Given the description of an element on the screen output the (x, y) to click on. 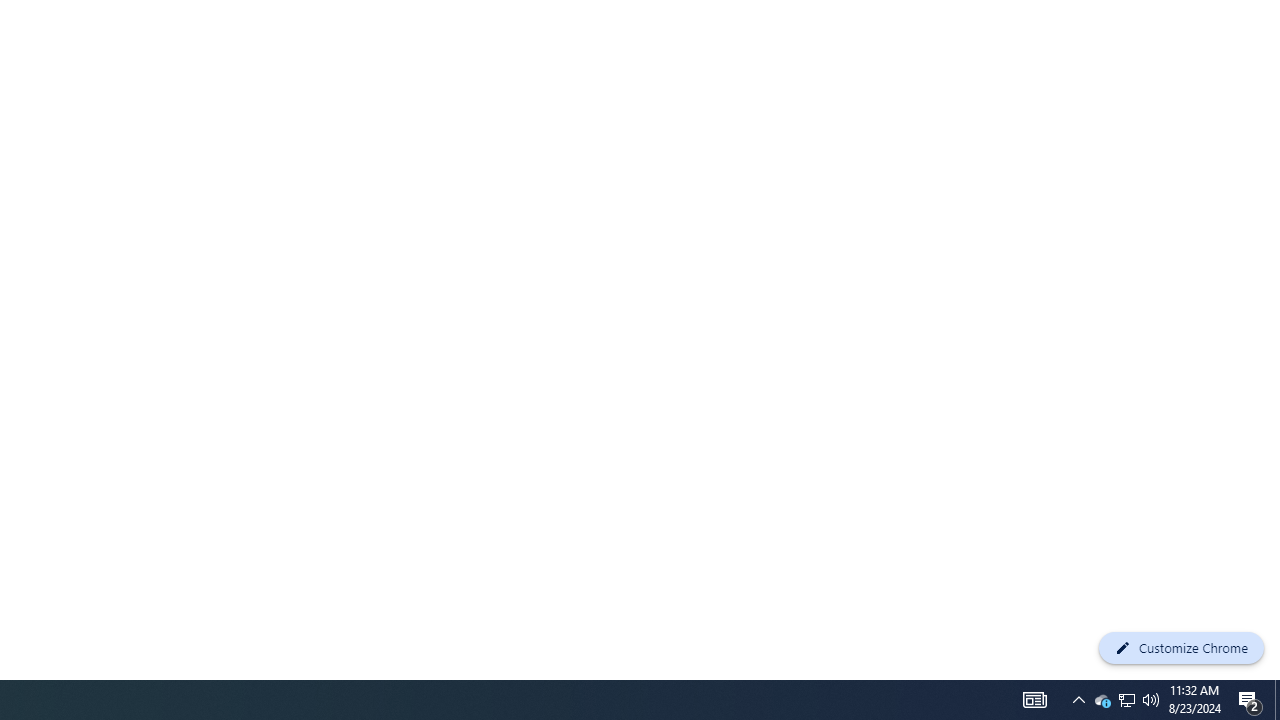
Customize Chrome (1181, 647)
